Given the description of an element on the screen output the (x, y) to click on. 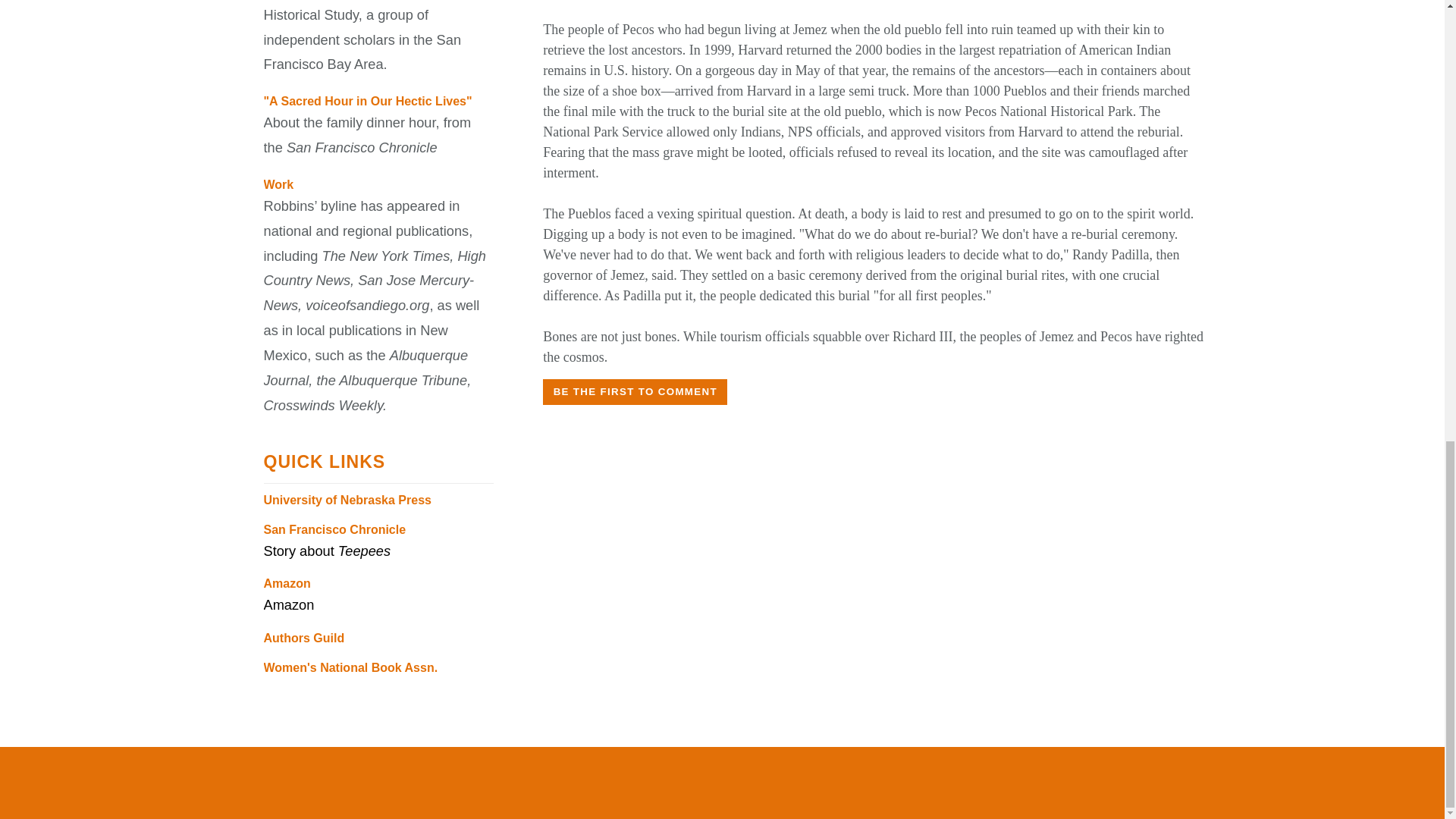
Amazon (287, 583)
Women's National Book Assn. (350, 667)
Work (278, 184)
San Francisco Chronicle (334, 529)
Authors Guild (304, 637)
University of Nebraska Press (346, 499)
"A Sacred Hour in Our Hectic Lives" (367, 101)
